Given the description of an element on the screen output the (x, y) to click on. 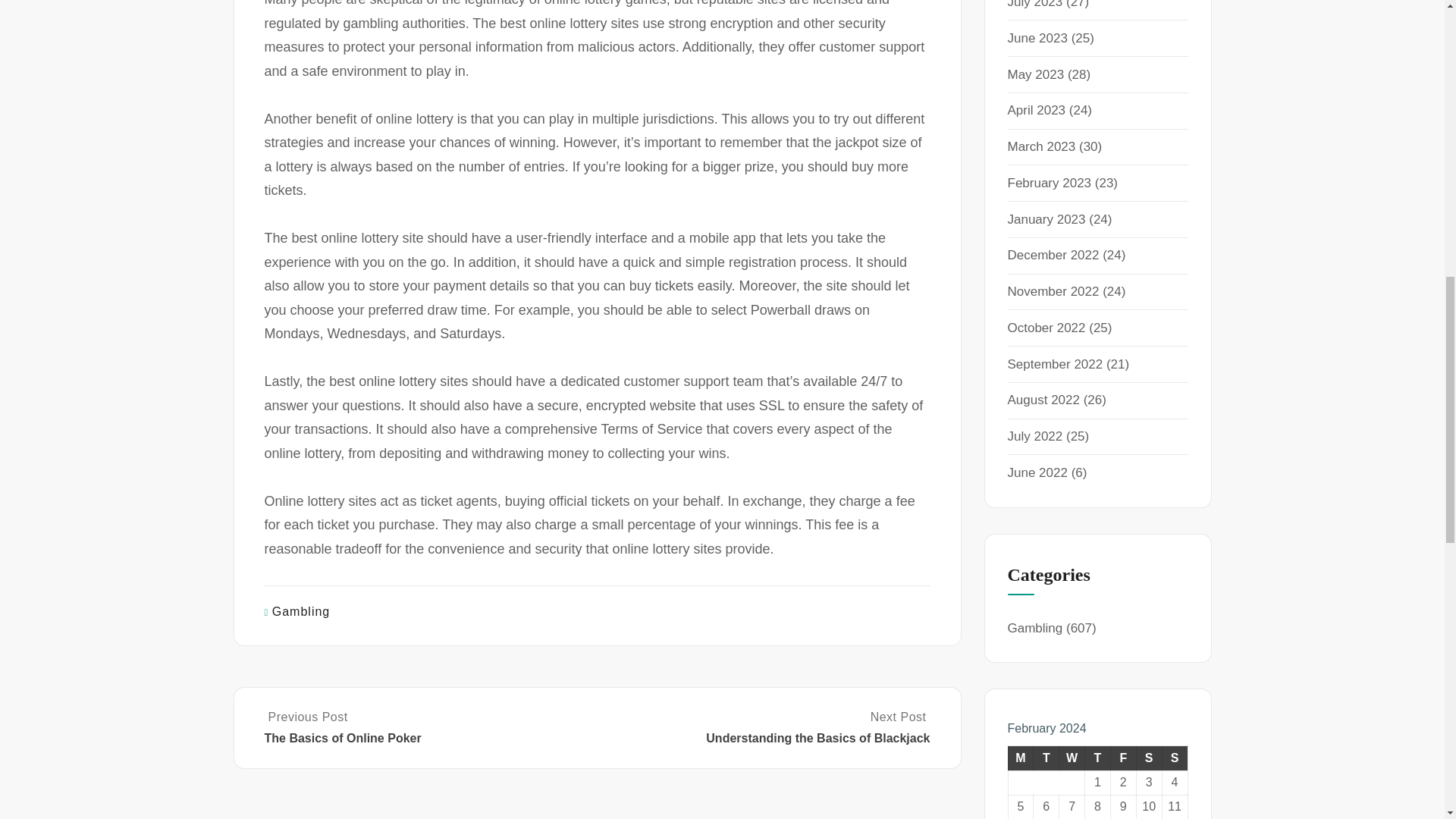
Monday (1020, 758)
Friday (1122, 758)
October 2022 (1045, 327)
April 2023 (1036, 110)
March 2023 (1041, 146)
May 2023 (1035, 74)
November 2022 (1053, 291)
January 2023 (1045, 219)
Saturday (1148, 758)
